Given the description of an element on the screen output the (x, y) to click on. 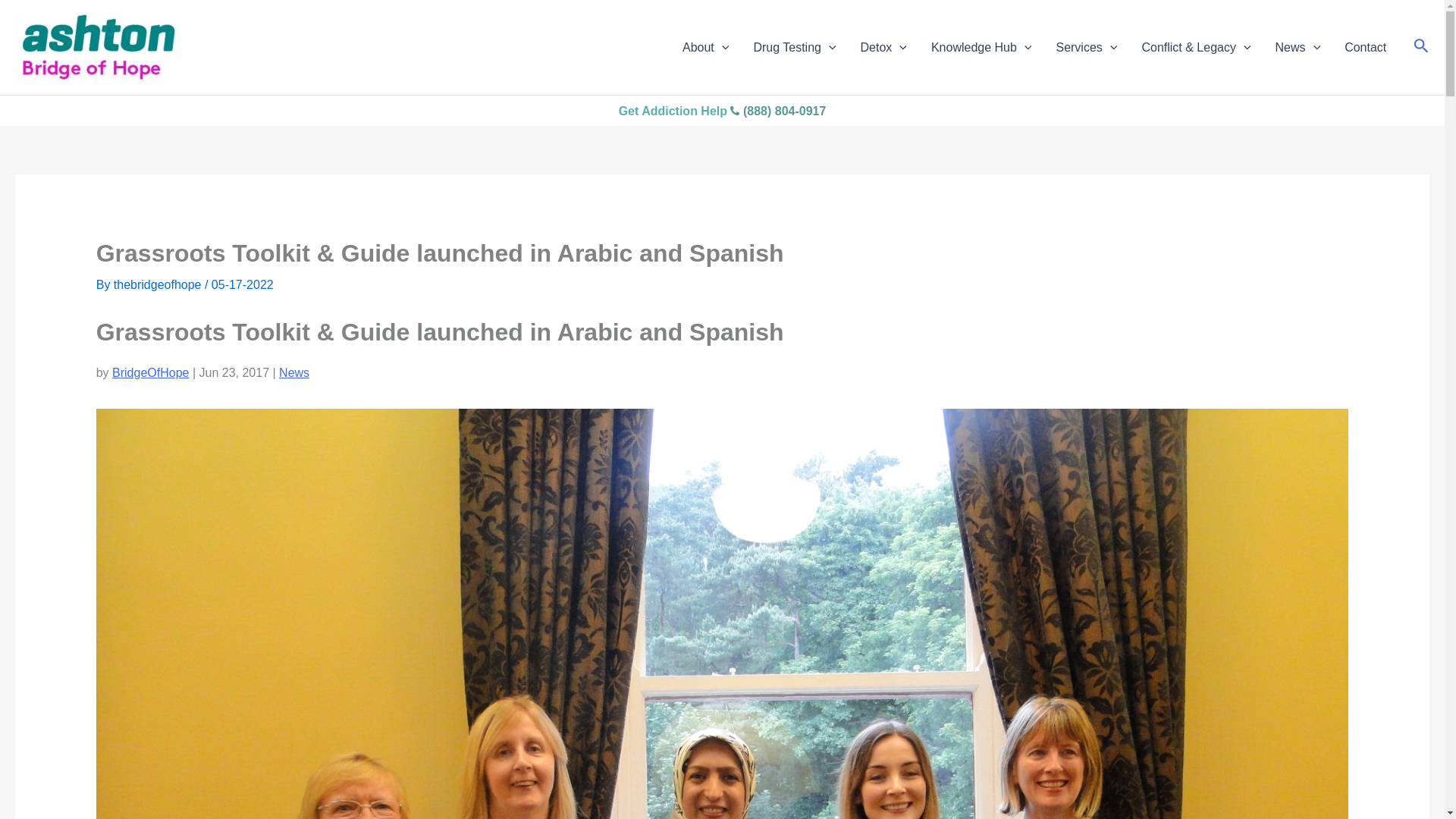
View all posts by thebridgeofhope (159, 284)
Services (1086, 46)
Detox (883, 46)
Knowledge Hub (980, 46)
Posts by BridgeOfHope (150, 372)
About (705, 46)
Drug Testing (794, 46)
